Given the description of an element on the screen output the (x, y) to click on. 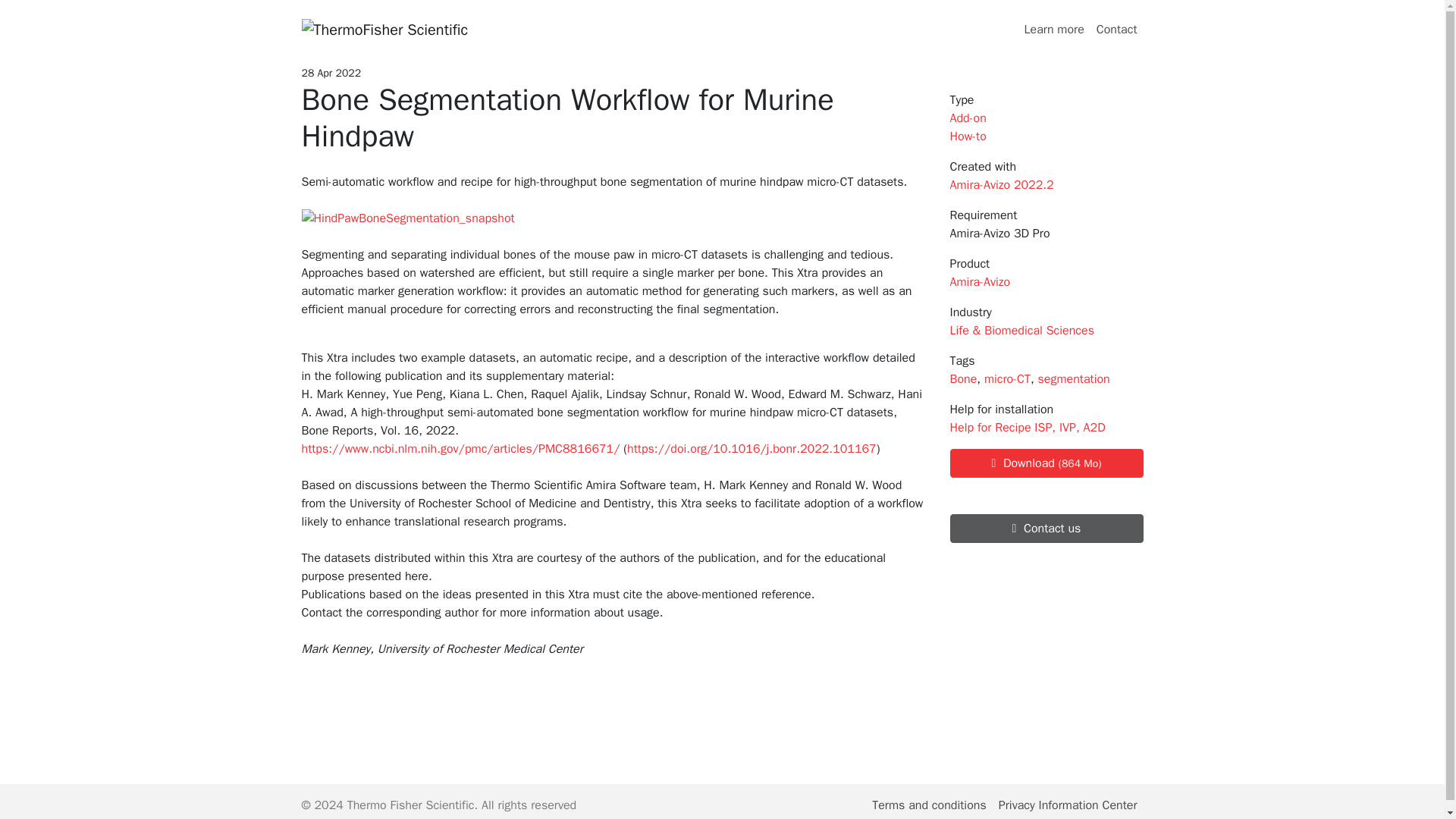
Help for Recipe ISP, IVP, A2D (1027, 427)
Add-on (967, 118)
Amira-Avizo (979, 281)
Contact (1116, 29)
micro-CT (1007, 378)
 Contact us (1045, 528)
segmentation (1073, 378)
Amira-Avizo 2022.2 (1000, 184)
Learn more (1053, 29)
How-to (967, 136)
